Given the description of an element on the screen output the (x, y) to click on. 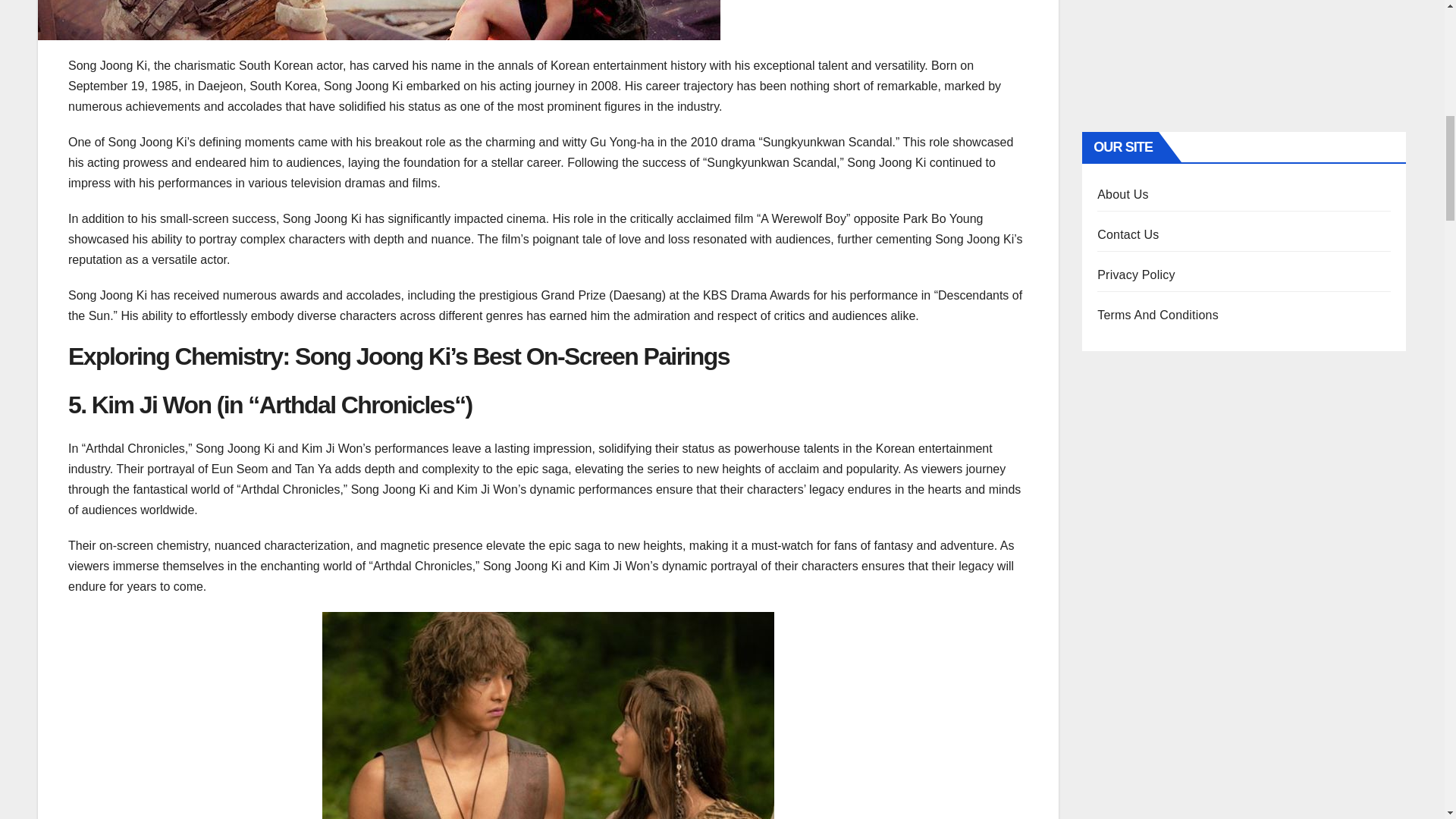
Advertisement (1243, 54)
